Given the description of an element on the screen output the (x, y) to click on. 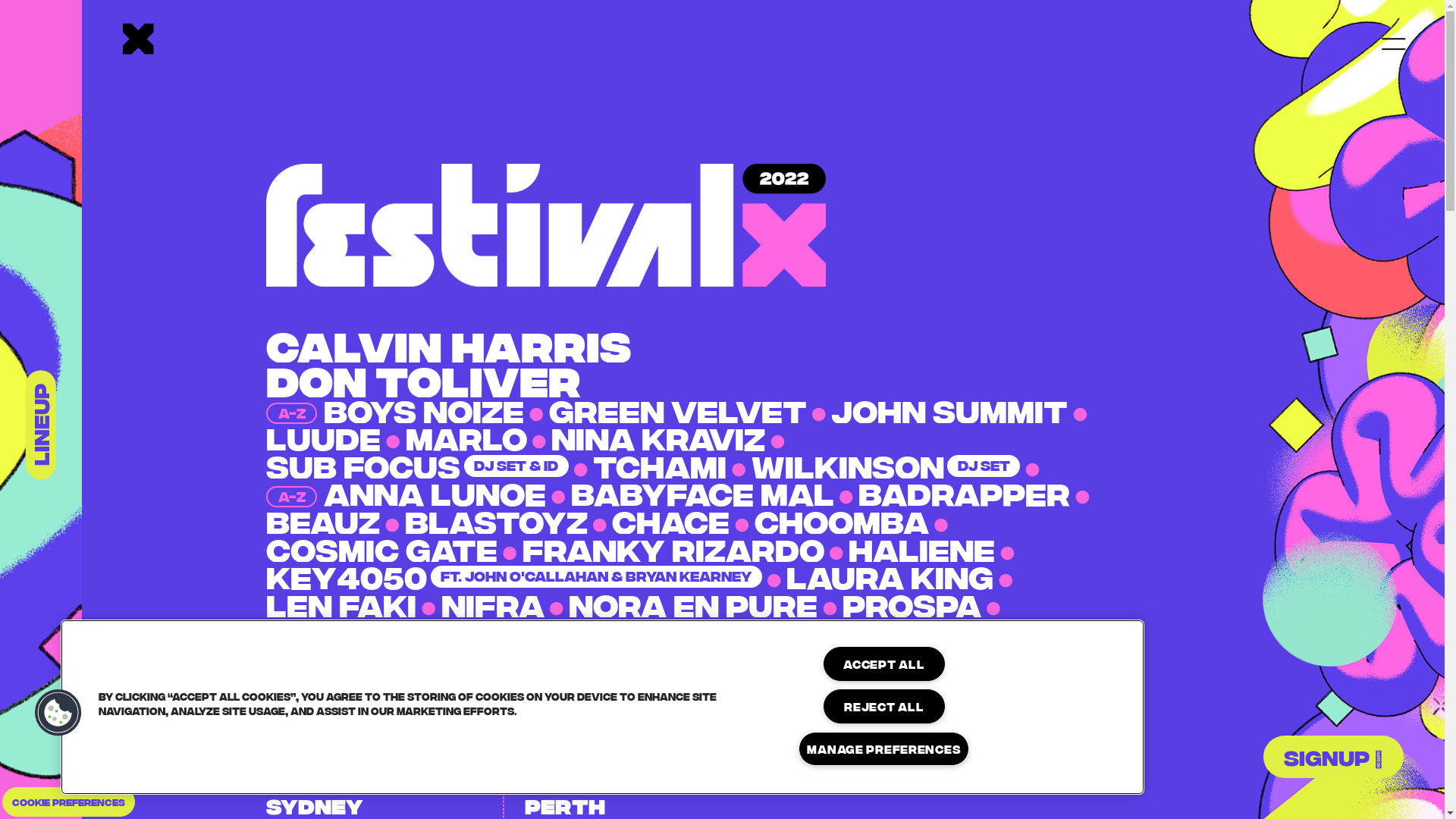
sun 27 nov
gold coast
Metricon Stadium Element type: text (633, 720)
Sat 26 nov
Melbourne
Flemington Racecourse Element type: text (374, 720)
Cookie Preferences Element type: text (68, 801)
Manage Preferences Element type: text (883, 748)
Homepage Element type: hover (137, 40)
Reject All Element type: text (883, 706)
Cookies Button Element type: text (58, 712)
Fri 02 Dec
Adelaide
Bonython Park Element type: text (892, 720)
Accept All Element type: text (883, 663)
